Given the description of an element on the screen output the (x, y) to click on. 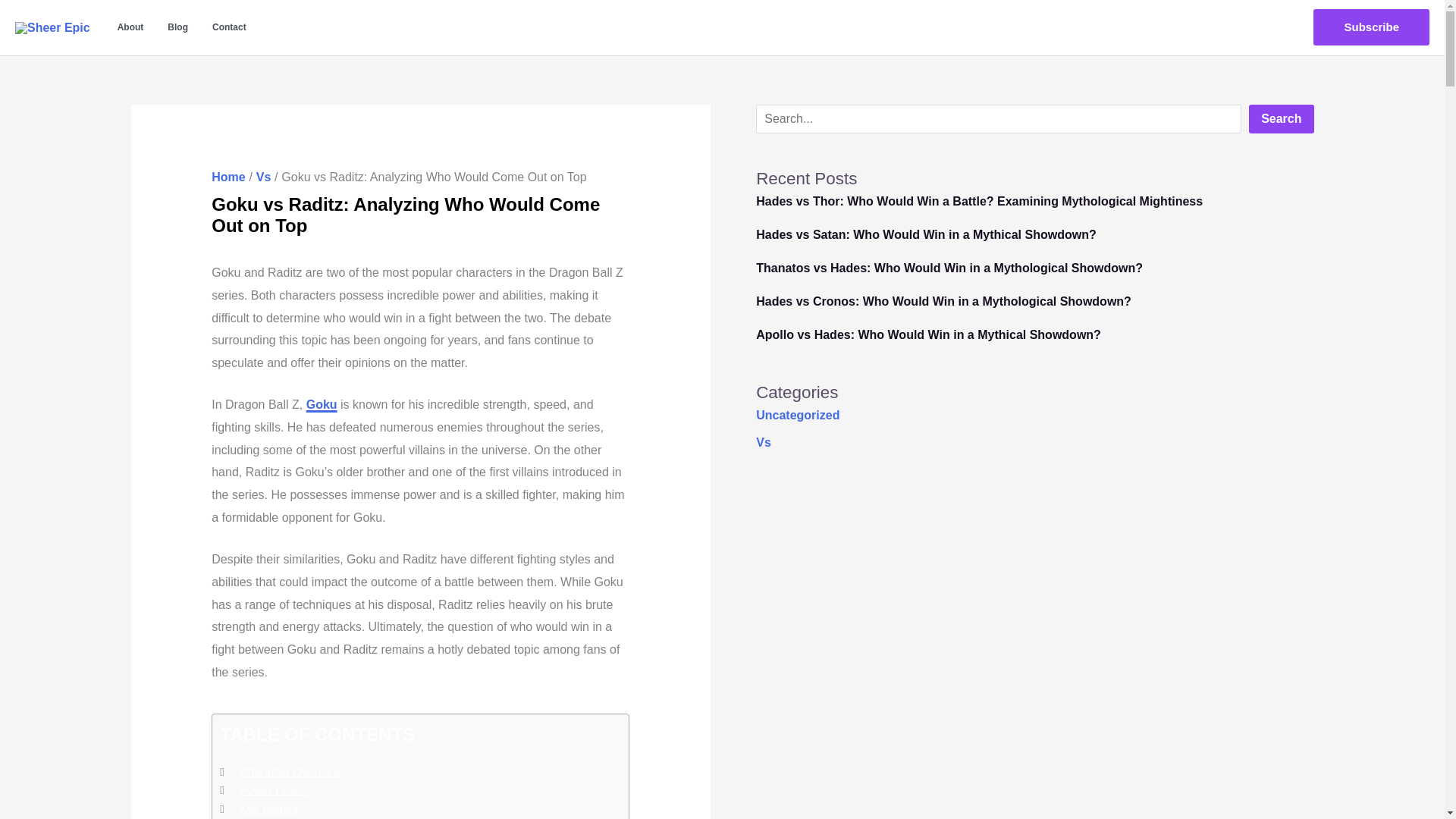
Character Overview (290, 771)
Character Overview (290, 771)
Home (227, 176)
Key Battles (269, 809)
Power Levels (274, 790)
Contact (229, 27)
Vs (263, 176)
Key Battles (269, 809)
Goku (321, 404)
Subscribe (1371, 27)
Goku (321, 404)
About (129, 27)
Power Levels (274, 790)
